Given the description of an element on the screen output the (x, y) to click on. 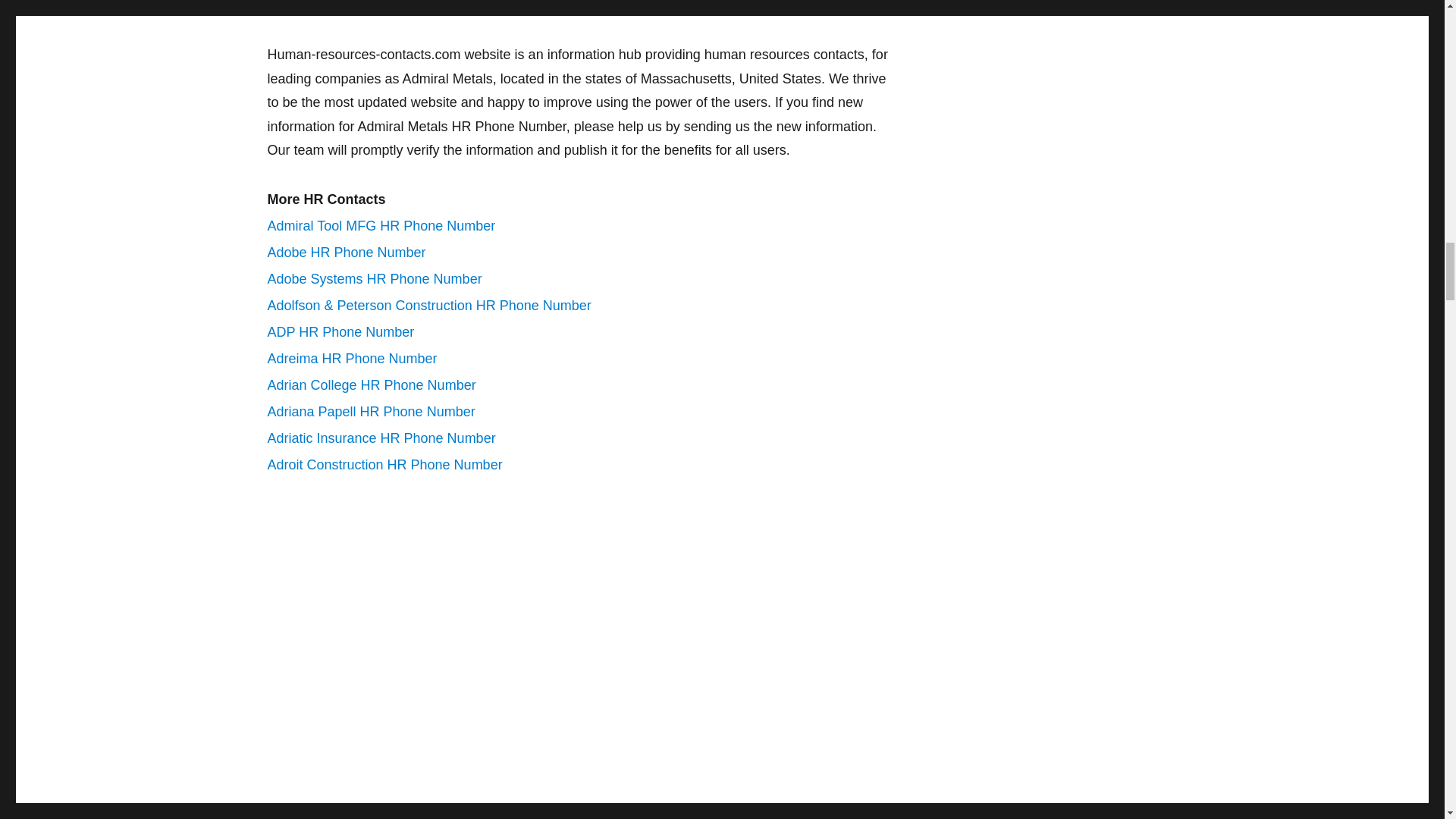
Adroit Construction HR Phone Number (384, 464)
Adrian College HR Phone Number (371, 385)
Adriana Papell HR Phone Number (370, 411)
ADP HR Phone Number (339, 331)
Adreima HR Phone Number (351, 358)
Adobe Systems HR Phone Number (373, 278)
Admiral Tool MFG HR Phone Number (380, 225)
Adobe HR Phone Number (345, 252)
Adriatic Insurance HR Phone Number (380, 437)
